Given the description of an element on the screen output the (x, y) to click on. 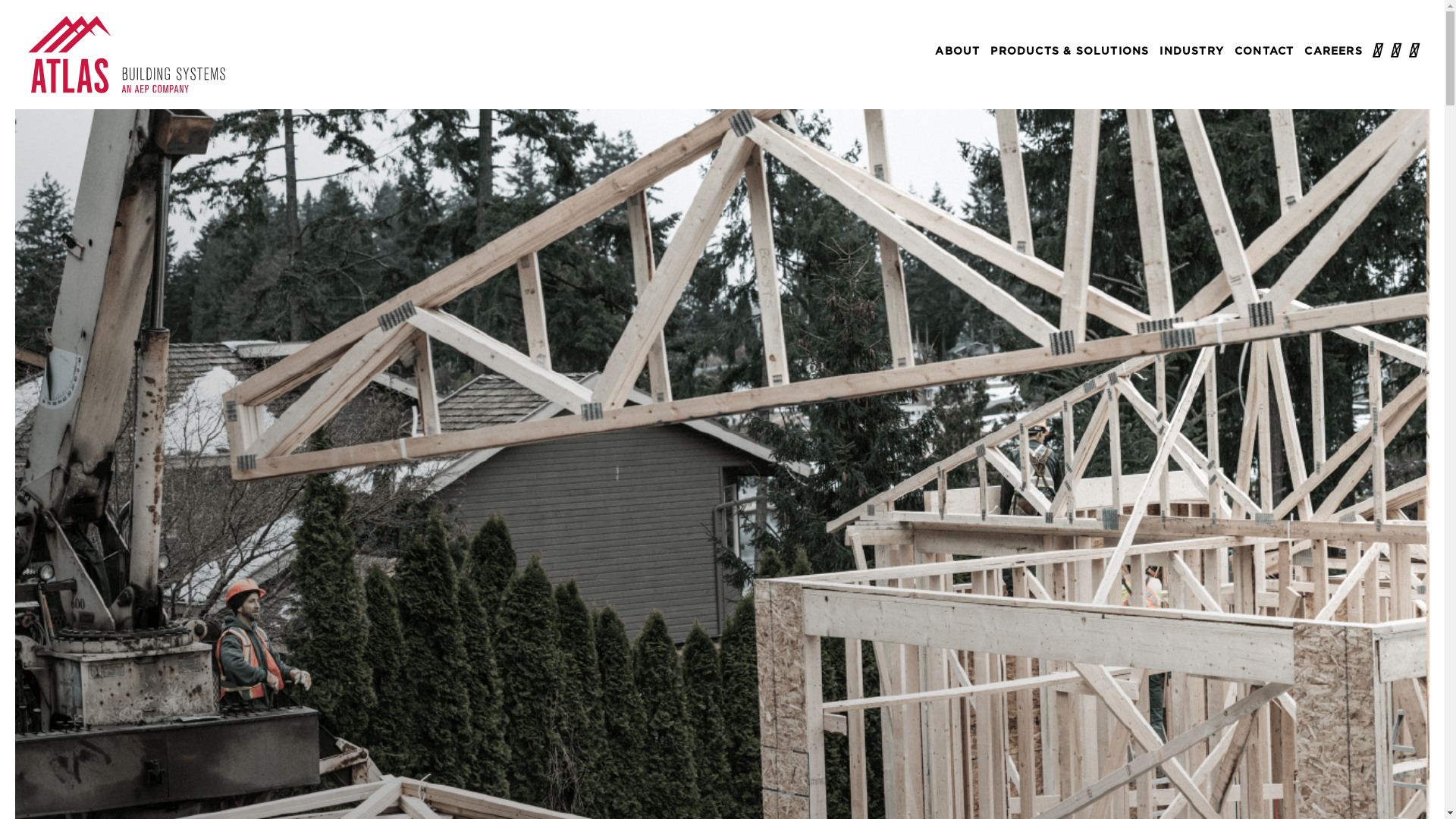
CONTACT Element type: text (1263, 51)
INDUSTRY Element type: text (1191, 51)
ABOUT Element type: text (957, 51)
CAREERS Element type: text (1332, 51)
PRODUCTS & SOLUTIONS Element type: text (1069, 51)
